Given the description of an element on the screen output the (x, y) to click on. 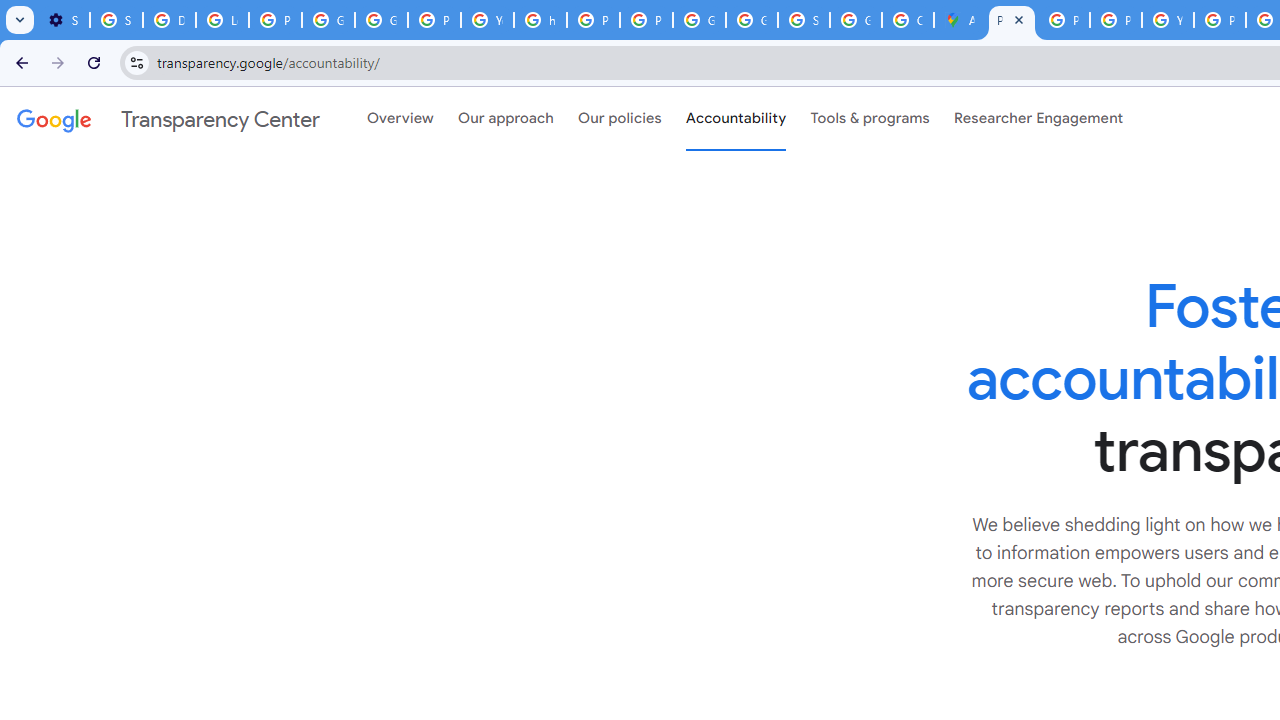
Our policies (619, 119)
YouTube (487, 20)
Sign in - Google Accounts (803, 20)
YouTube (1167, 20)
Delete photos & videos - Computer - Google Photos Help (169, 20)
Researcher Engagement (1038, 119)
